Given the description of an element on the screen output the (x, y) to click on. 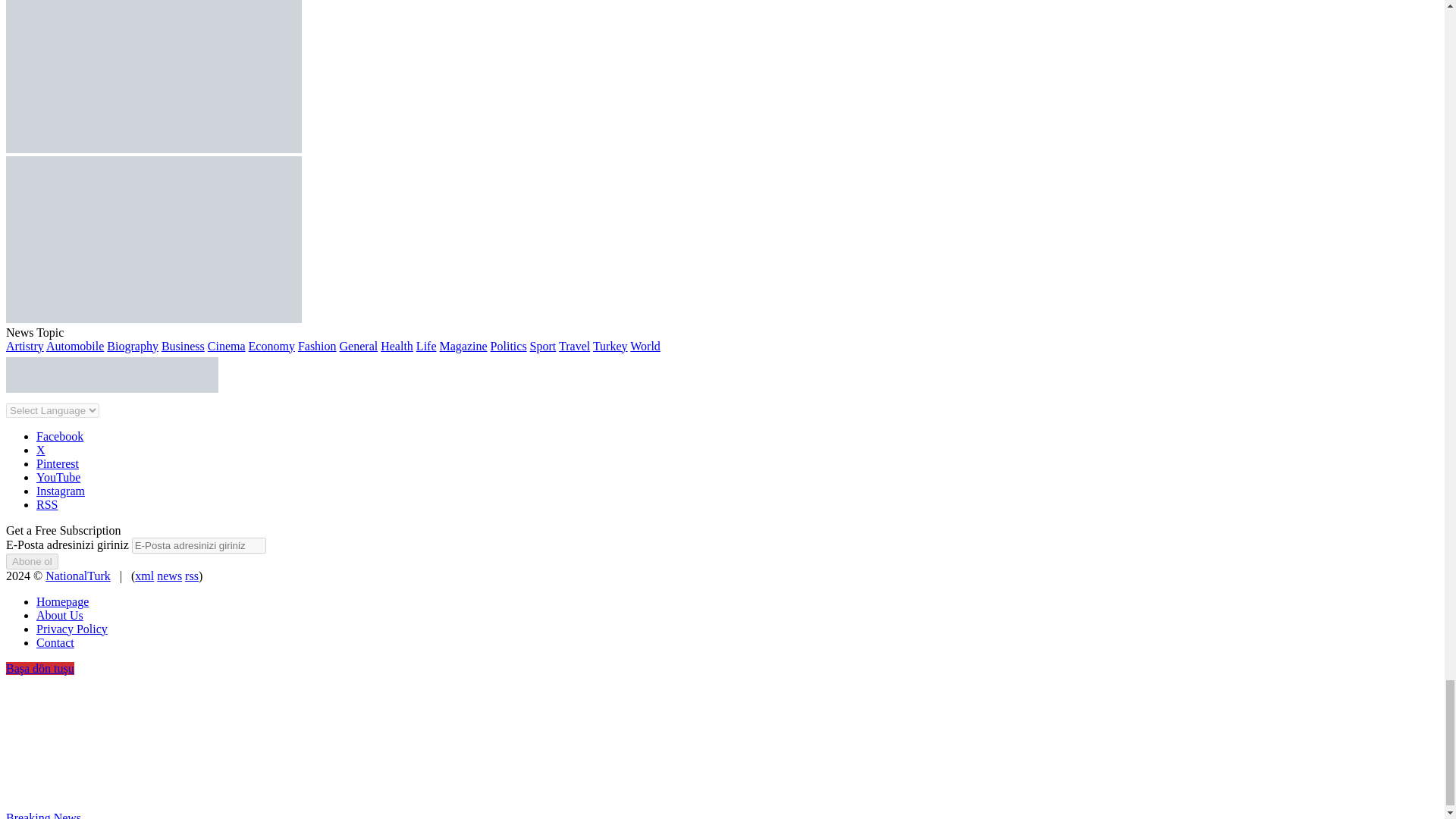
Business News (183, 345)
Economy News (271, 345)
Magazine News (463, 345)
Cinema News (227, 345)
Life News (426, 345)
Fashion News (317, 345)
Automobile News (74, 345)
Artistry News (24, 345)
General News (358, 345)
Abone ol (31, 561)
Health News (396, 345)
Biography News (132, 345)
